Given the description of an element on the screen output the (x, y) to click on. 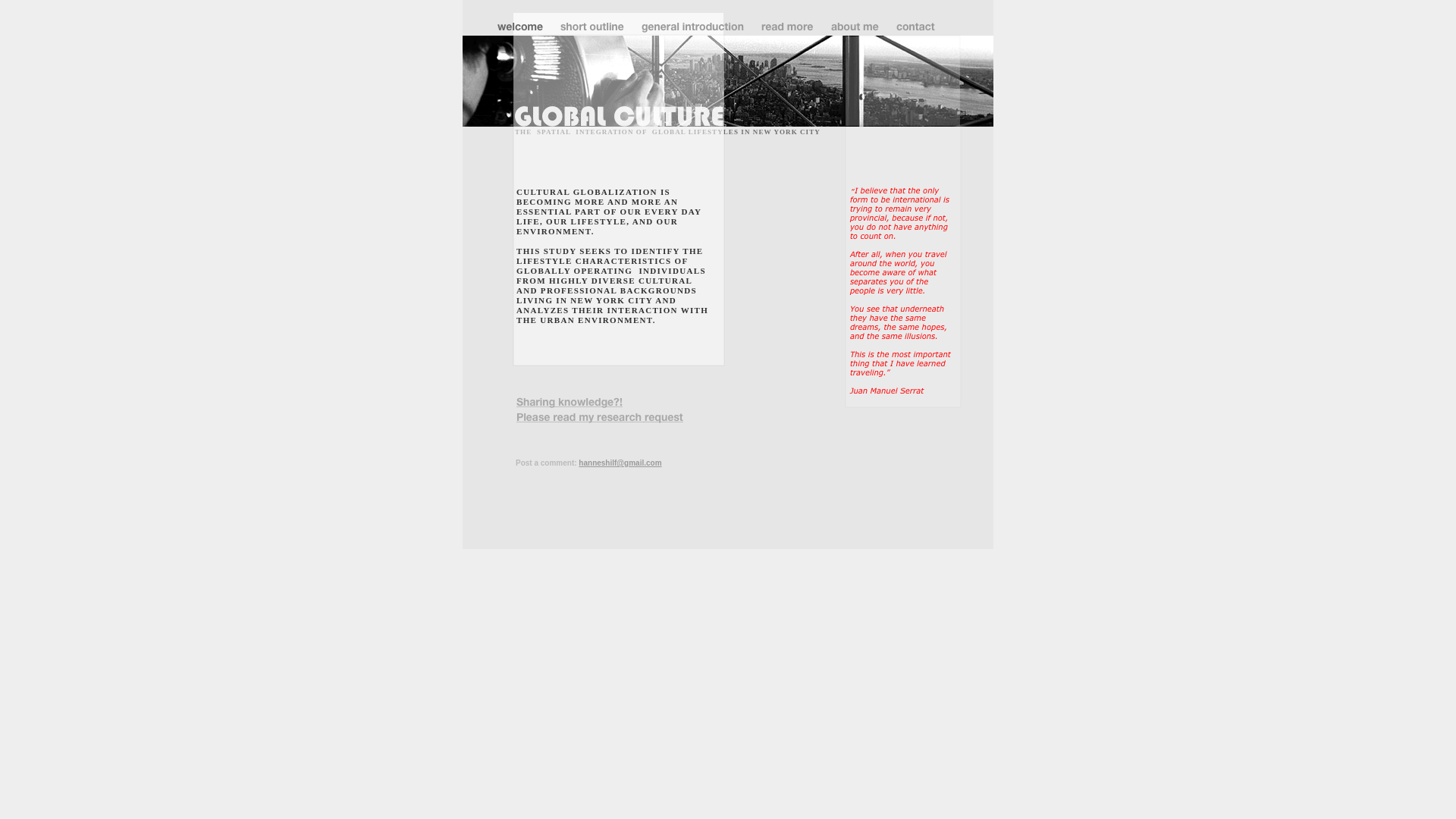
hanneshilf@gmail.com Element type: text (619, 462)
